Given the description of an element on the screen output the (x, y) to click on. 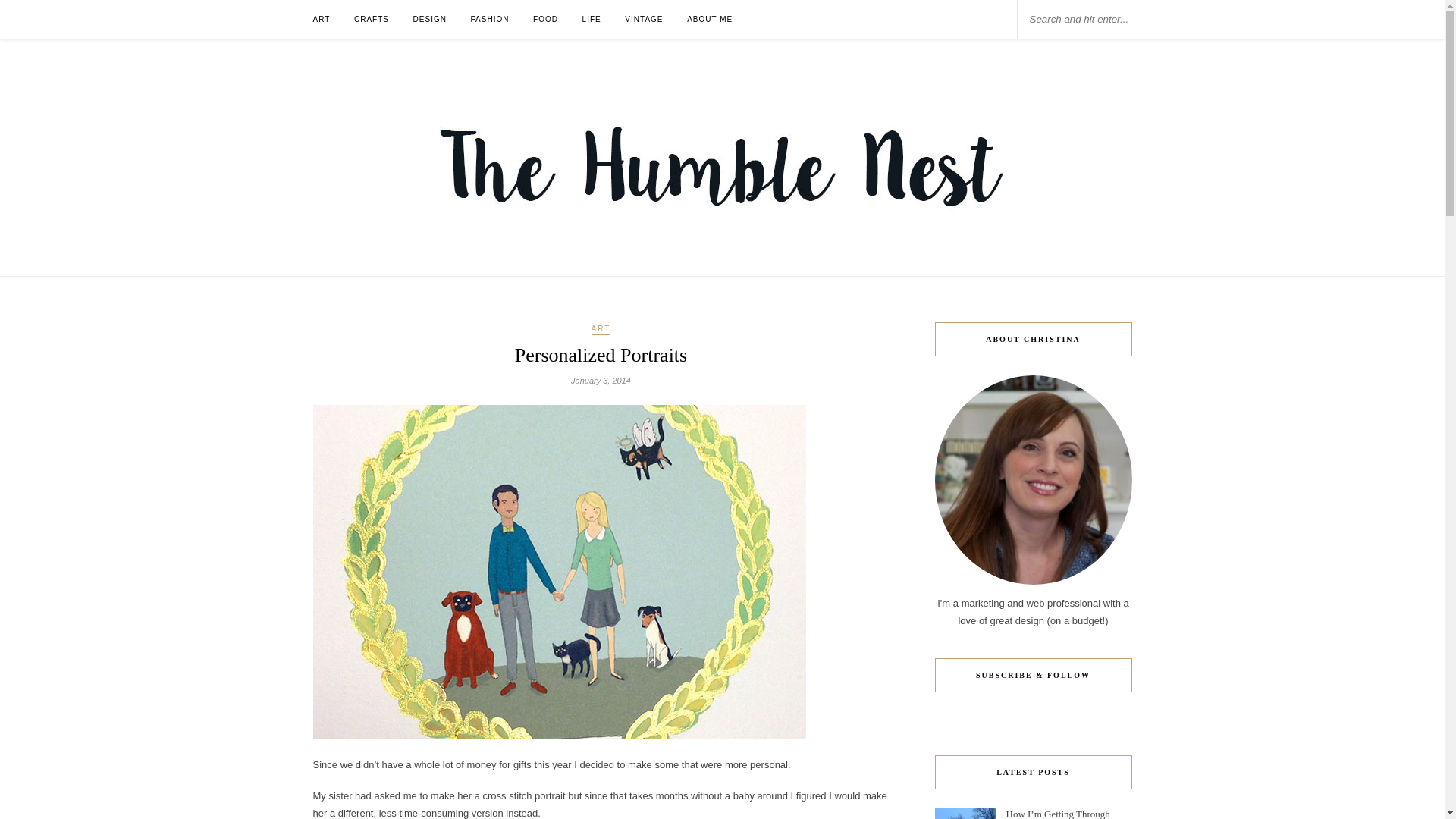
ART (601, 329)
ABOUT ME (709, 19)
FASHION (489, 19)
CRAFTS (370, 19)
View all posts in Art (601, 329)
VINTAGE (643, 19)
